Given the description of an element on the screen output the (x, y) to click on. 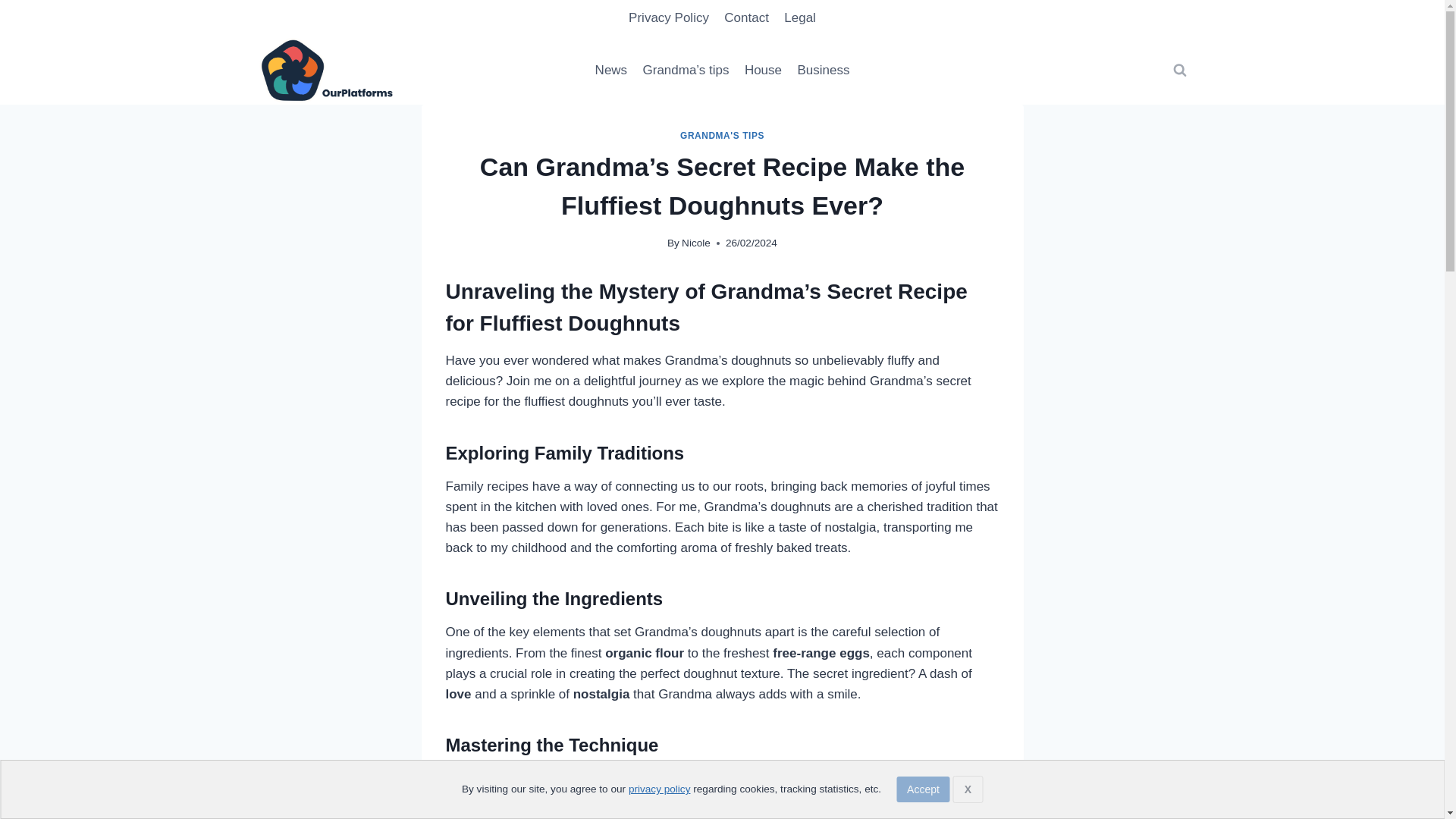
Privacy Policy (668, 18)
Accept (923, 789)
Business (823, 70)
Nicole (695, 242)
House (763, 70)
Contact (746, 18)
Legal (800, 18)
privacy policy (659, 788)
GRANDMA'S TIPS (721, 135)
X (967, 789)
